Given the description of an element on the screen output the (x, y) to click on. 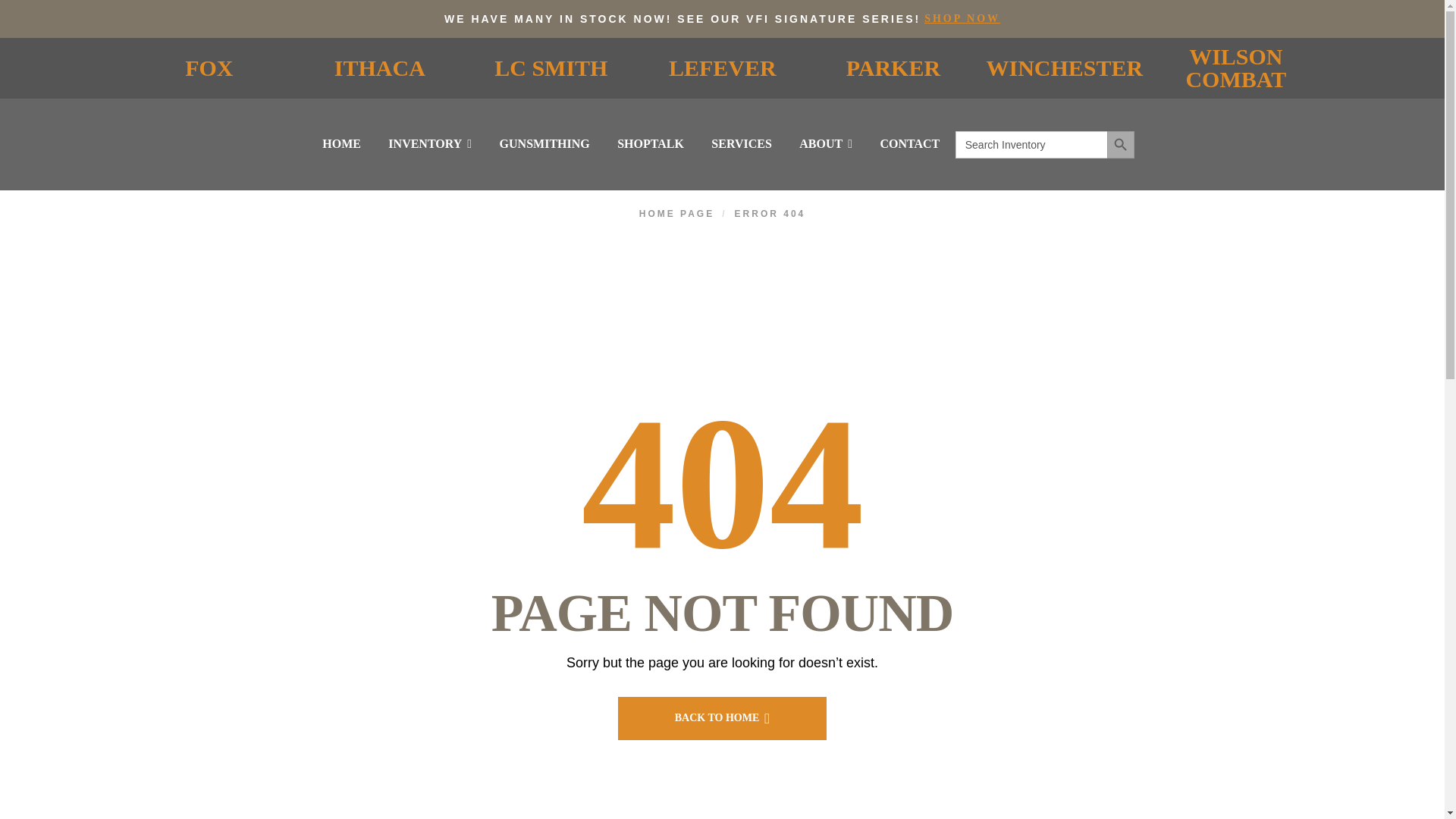
SHOP NOW (962, 18)
FOX (208, 67)
LC SMITH (551, 67)
INVENTORY (429, 144)
ITHACA (379, 67)
WINCHESTER (1064, 67)
LEFEVER (722, 67)
PARKER (892, 67)
WILSON COMBAT (1235, 67)
